Given the description of an element on the screen output the (x, y) to click on. 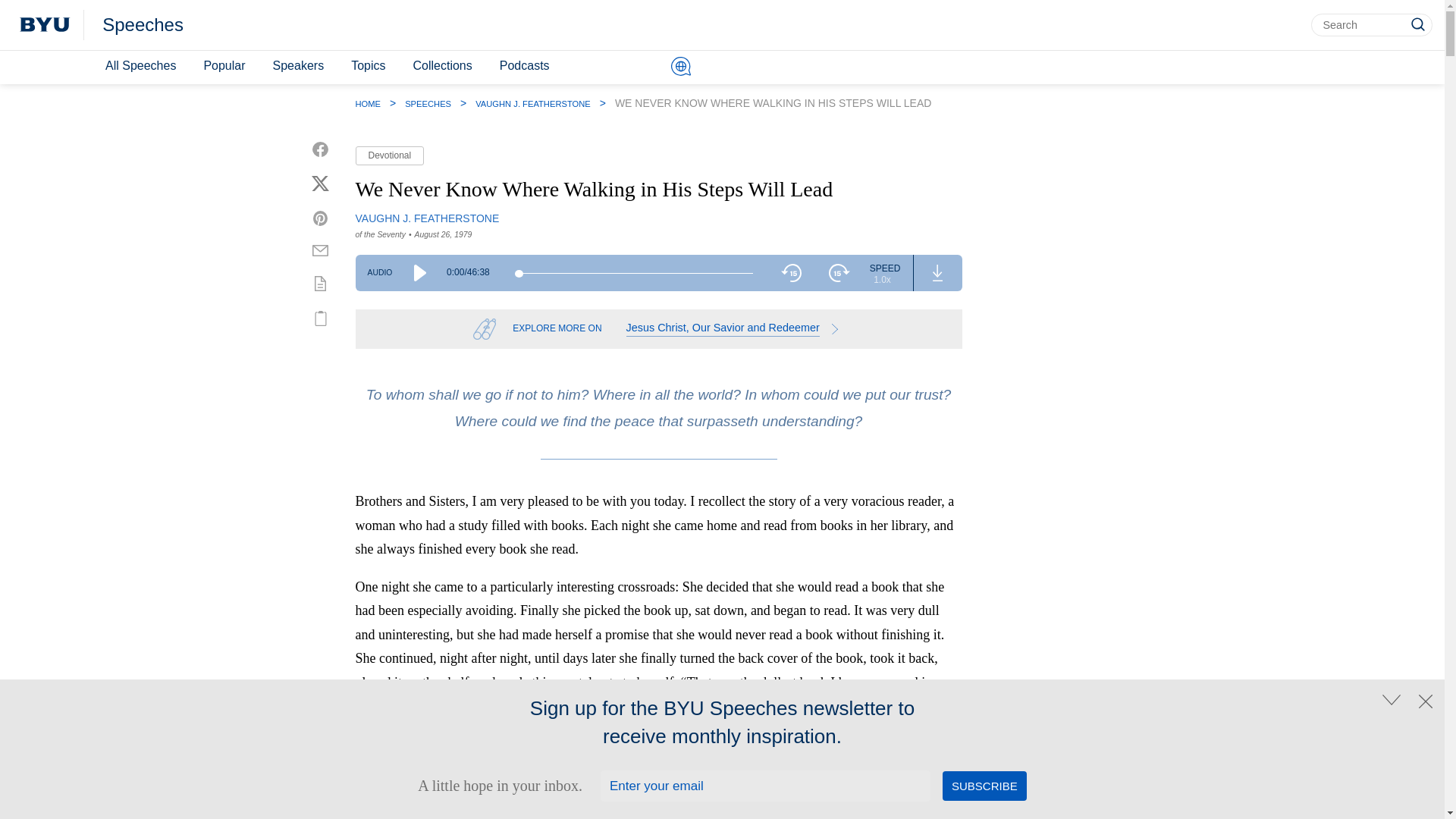
HOME (367, 103)
VAUGHN J. FEATHERSTONE (427, 218)
Podcasts (524, 65)
Jesus Christ, Our Savior and Redeemer (735, 328)
SPEECHES (427, 103)
Popular (223, 65)
Speeches (142, 25)
Speakers (298, 65)
VAUGHN J. FEATHERSTONE (533, 103)
All Speeches (140, 65)
Devotional (389, 155)
Topics (368, 65)
Collections (441, 65)
Subscribe (984, 785)
